Given the description of an element on the screen output the (x, y) to click on. 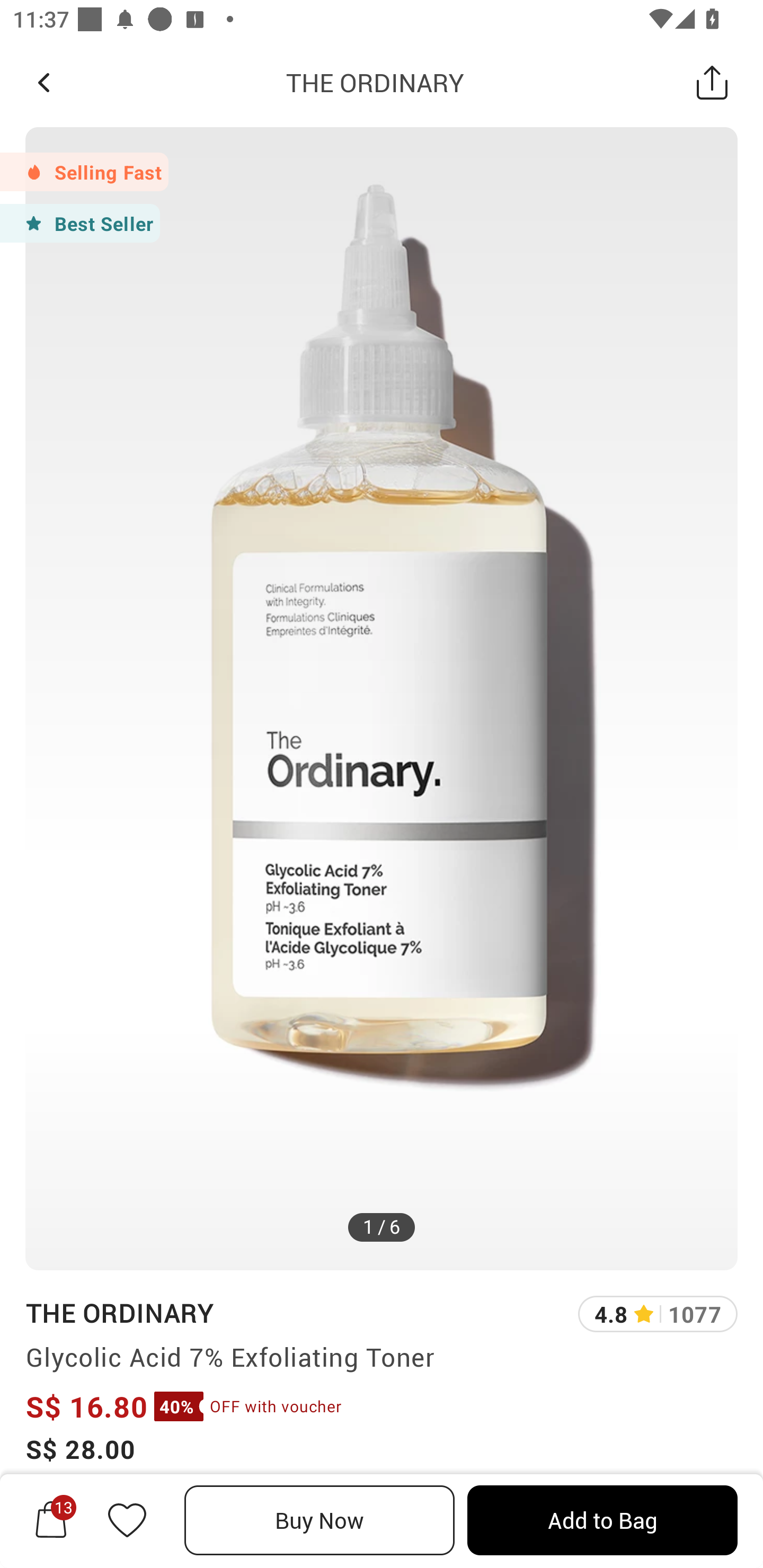
THE ORDINARY (375, 82)
Share this Product (711, 82)
THE ORDINARY (119, 1312)
4.8 1077 (657, 1313)
Buy Now (319, 1519)
Add to Bag (601, 1519)
13 (50, 1520)
